Given the description of an element on the screen output the (x, y) to click on. 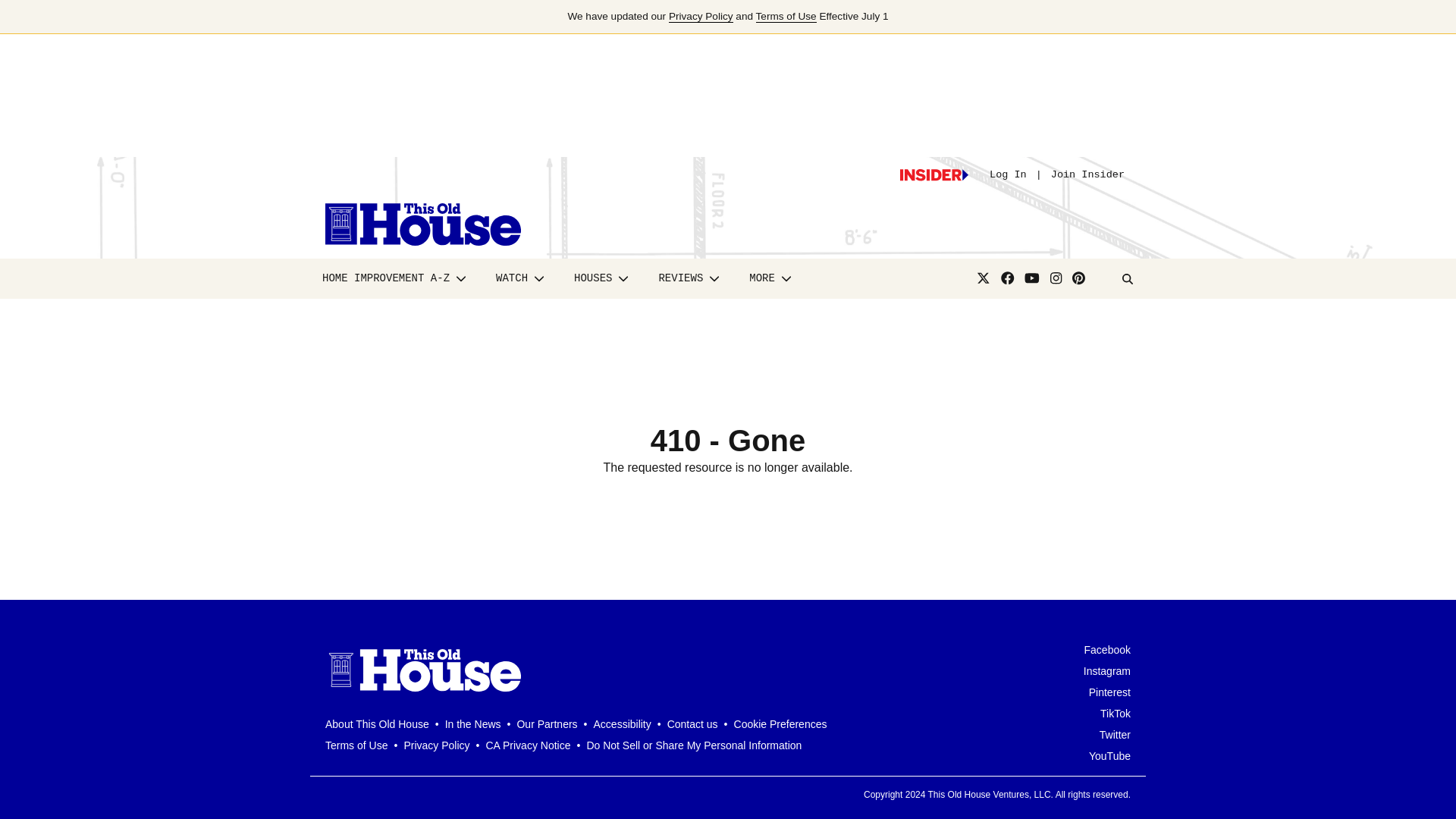
Log In (1008, 174)
Privacy Policy (700, 16)
Log in or sign up (933, 174)
Join Insider (1087, 174)
Terms of Use (785, 16)
